Given the description of an element on the screen output the (x, y) to click on. 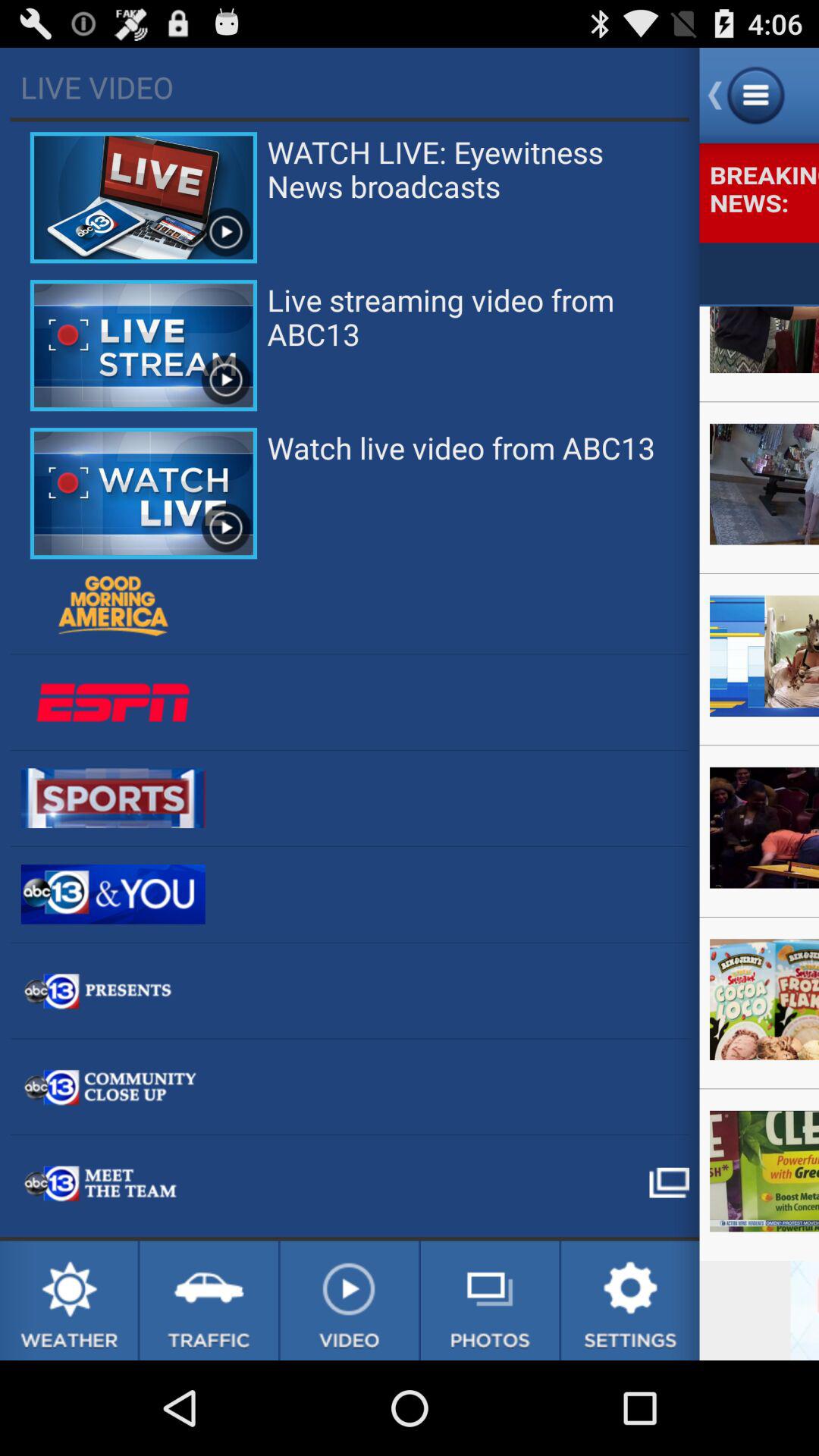
select traffic page (208, 1300)
